Given the description of an element on the screen output the (x, y) to click on. 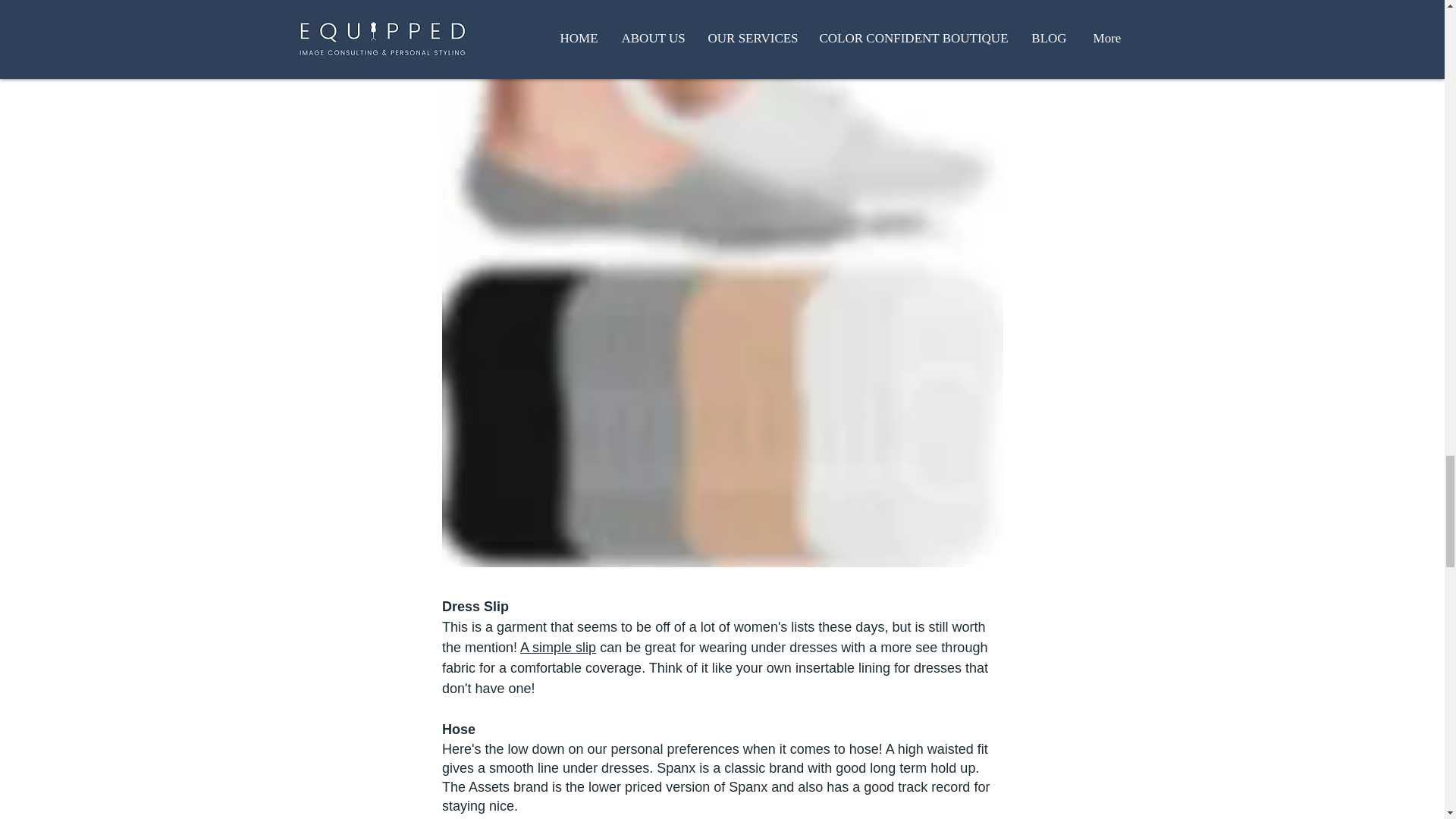
A simple slip (557, 647)
